Given the description of an element on the screen output the (x, y) to click on. 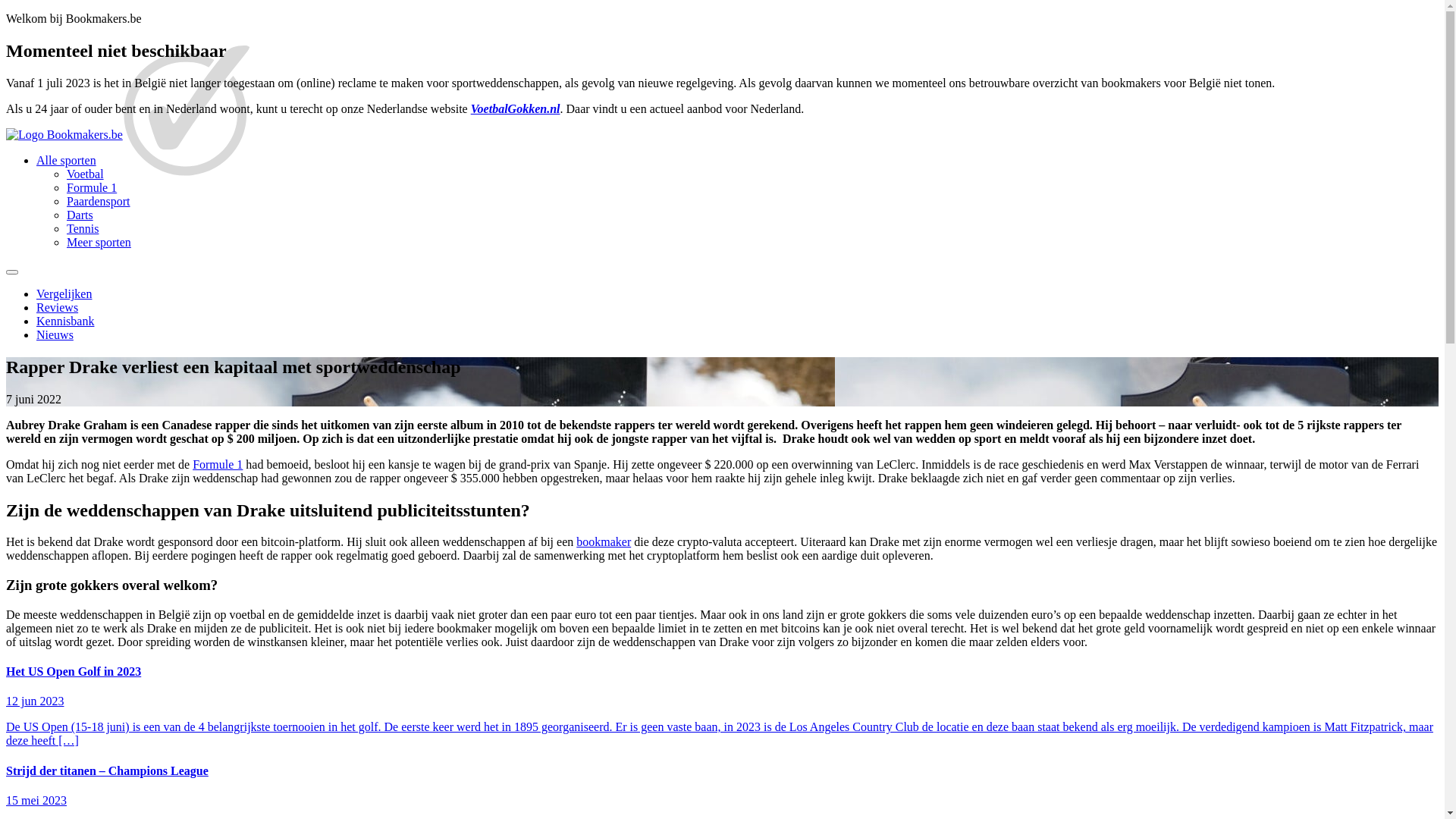
Formule 1 Element type: text (217, 464)
Meer sporten Element type: text (98, 241)
Nieuws Element type: text (54, 334)
Vergelijken Element type: text (63, 293)
Darts Element type: text (79, 214)
VoetbalGokken.nl Element type: text (515, 108)
Alle sporten Element type: text (66, 159)
Tennis Element type: text (82, 228)
Paardensport Element type: text (98, 200)
Reviews Element type: text (57, 307)
Formule 1 Element type: text (91, 187)
Kennisbank Element type: text (65, 320)
Voetbal Element type: text (84, 173)
bookmaker Element type: text (603, 541)
